Given the description of an element on the screen output the (x, y) to click on. 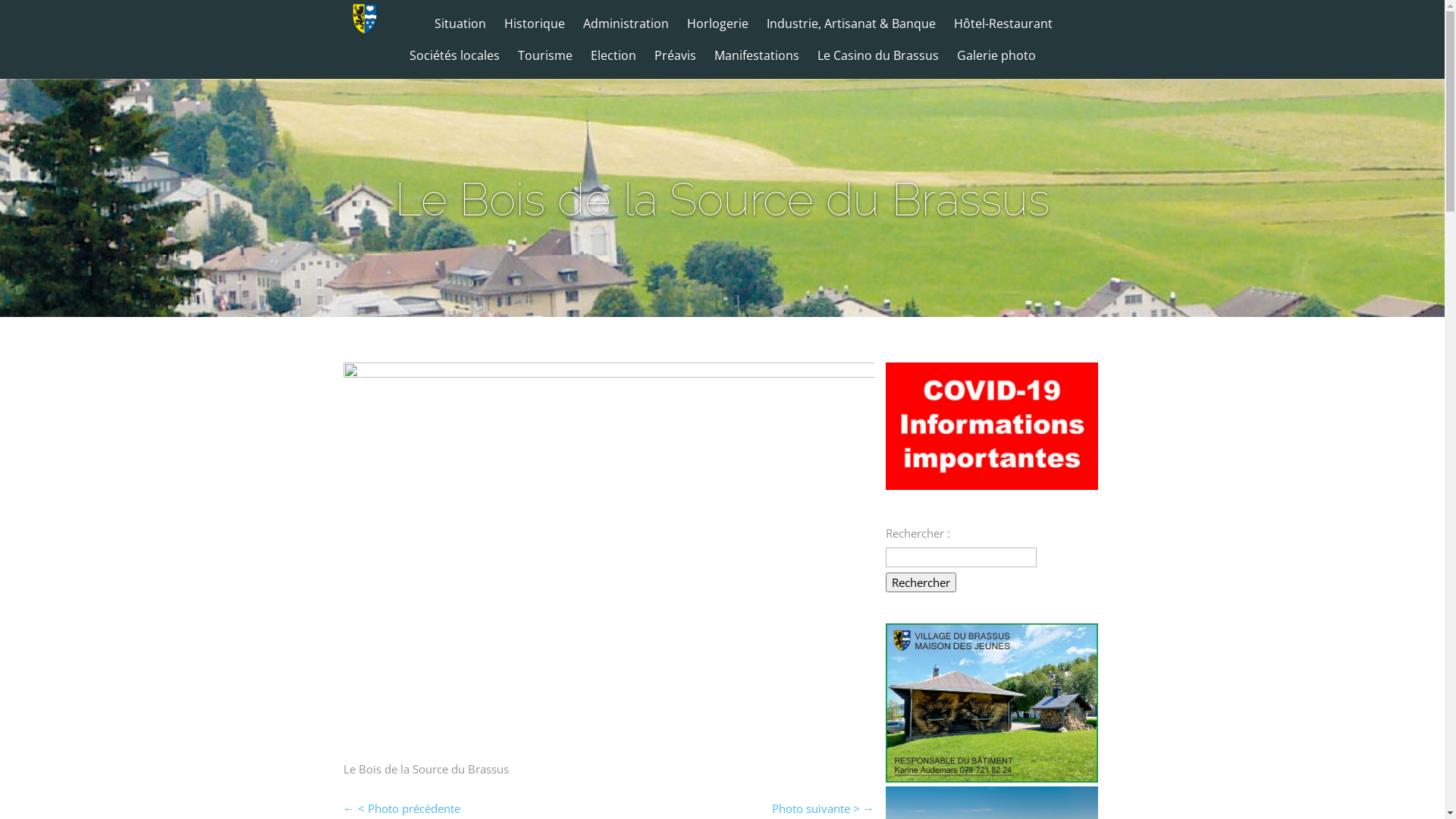
Historique Element type: text (534, 31)
Election Element type: text (612, 62)
Tourisme Element type: text (544, 62)
Galerie photo Element type: text (996, 62)
Le Bois de la Source du Brassus Element type: hover (607, 372)
Manifestations Element type: text (756, 62)
Situation Element type: text (459, 31)
Rechercher Element type: text (920, 582)
Administration Element type: text (625, 31)
Le Casino du Brassus Element type: text (877, 62)
Industrie, Artisanat & Banque Element type: text (851, 31)
Horlogerie Element type: text (717, 31)
